Given the description of an element on the screen output the (x, y) to click on. 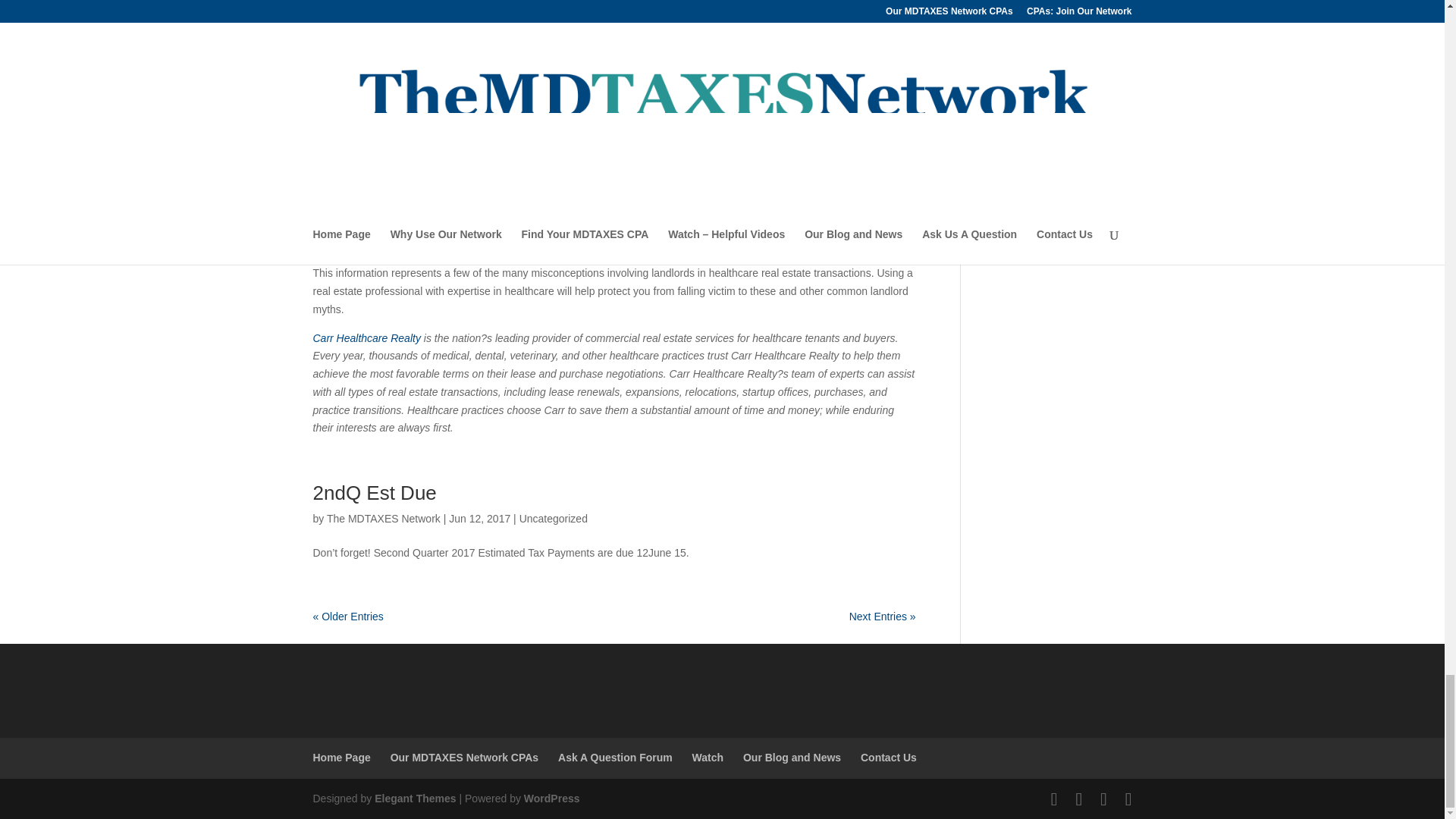
Premium WordPress Themes (414, 798)
Posts by The MDTAXES Network (383, 518)
